Given the description of an element on the screen output the (x, y) to click on. 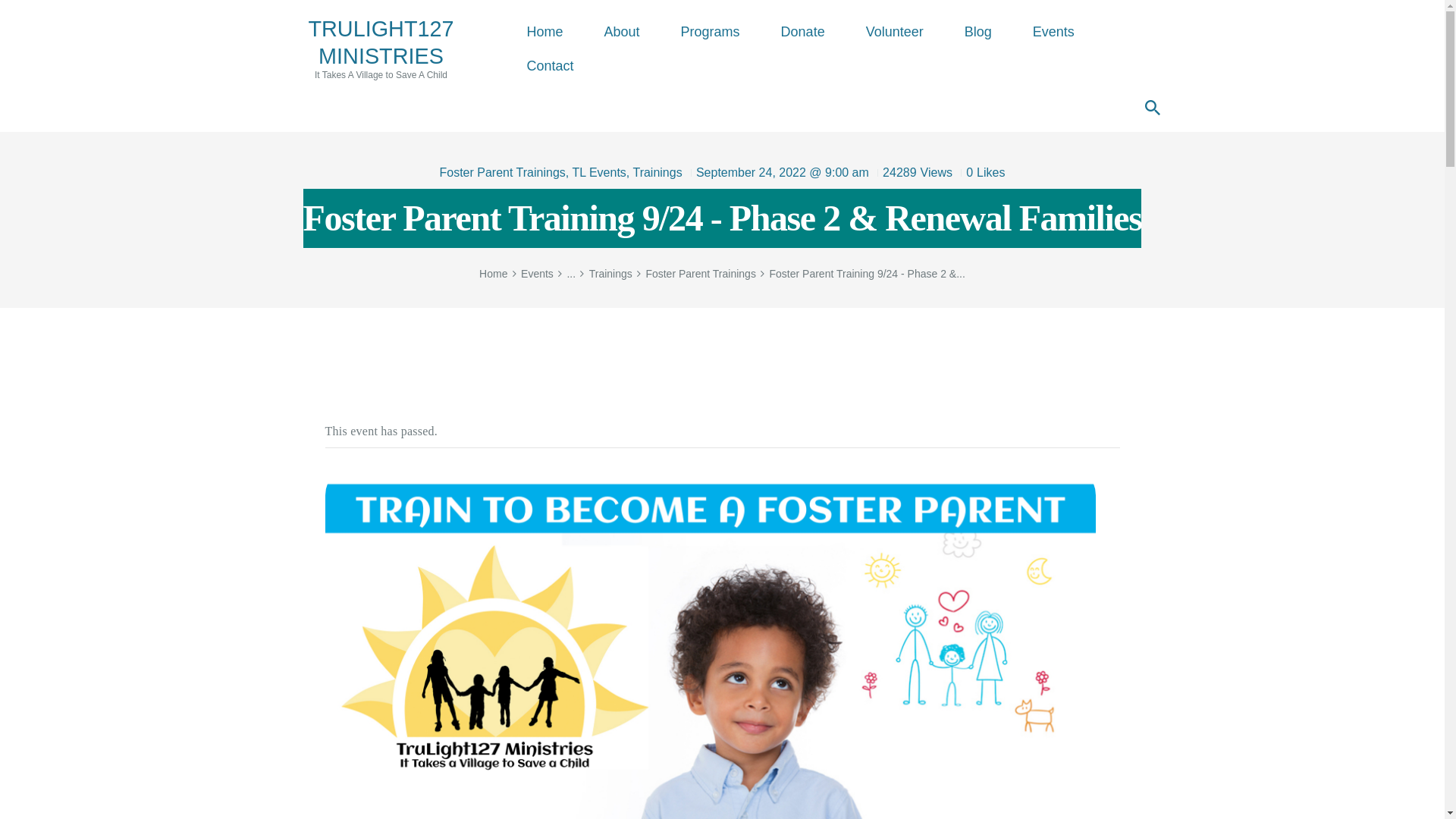
Contact (550, 66)
Volunteer (381, 48)
Blog (894, 32)
Home (977, 32)
Donate (544, 32)
View all posts in TL Events (802, 32)
Like (599, 172)
View all posts in Trainings (979, 172)
About (656, 172)
Programs (622, 32)
Events (710, 32)
View all posts in Foster Parent Trainings (1052, 32)
